Given the description of an element on the screen output the (x, y) to click on. 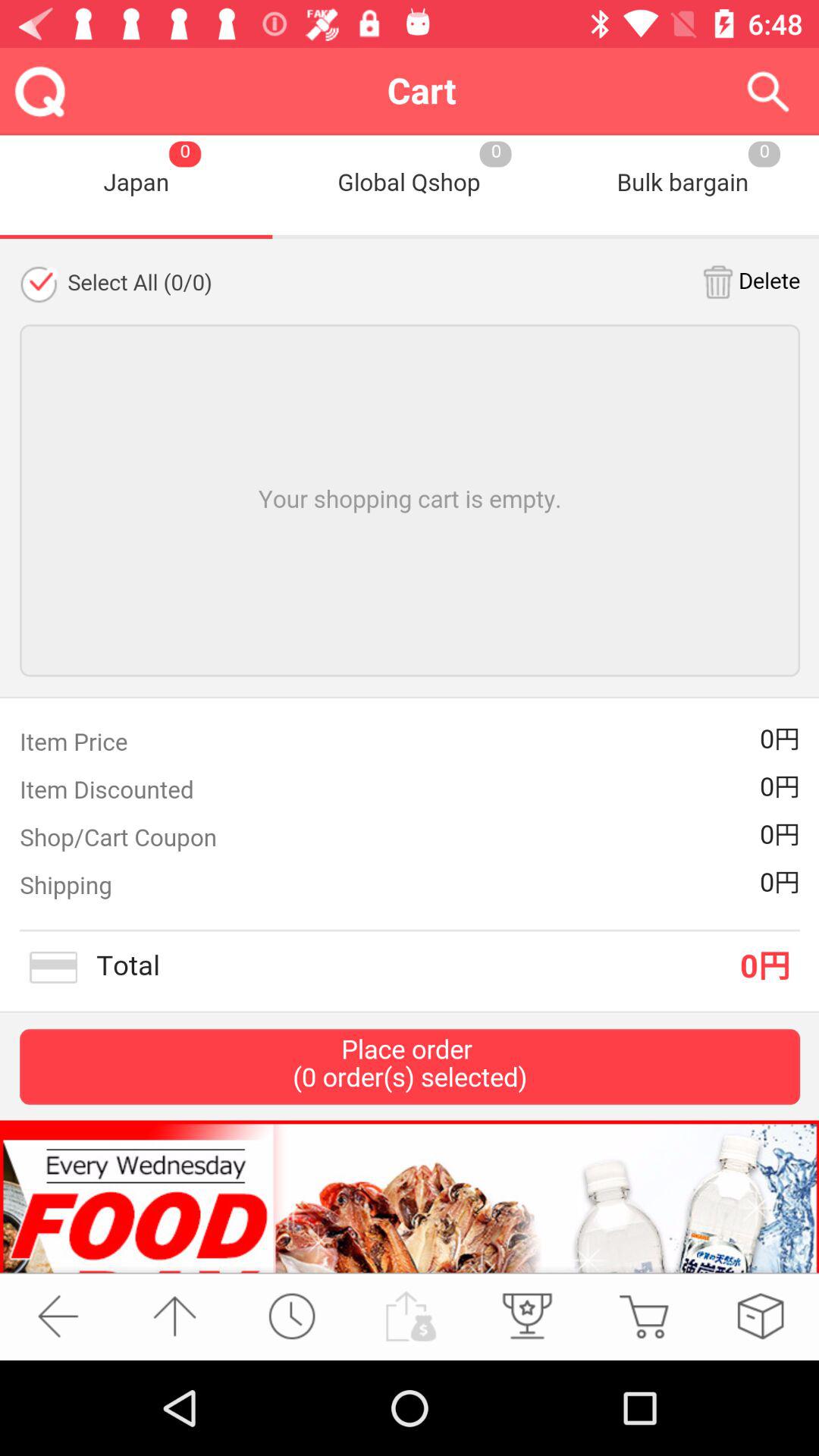
back (58, 1316)
